Given the description of an element on the screen output the (x, y) to click on. 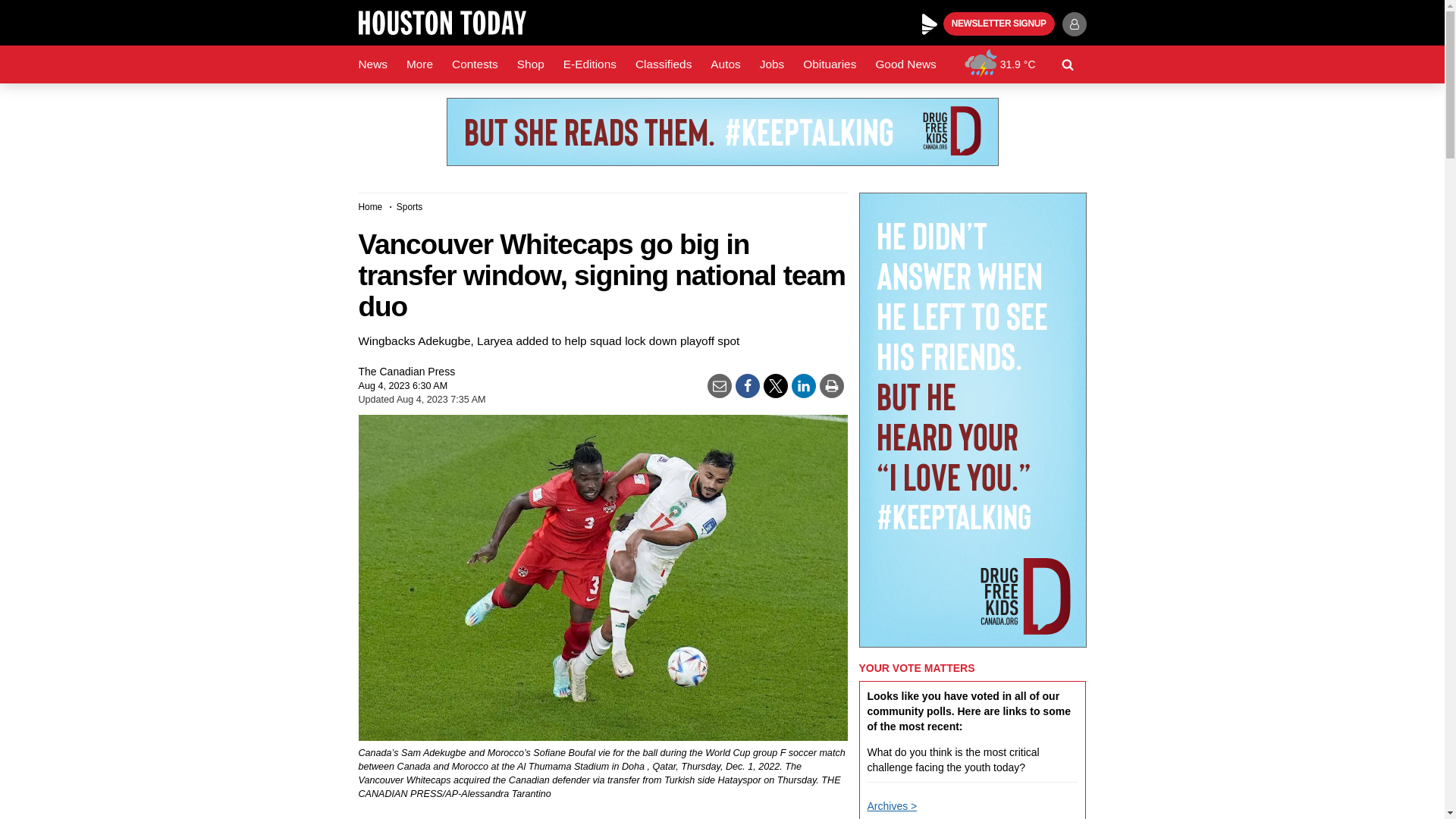
NEWSLETTER SIGNUP (998, 24)
Black Press Media (929, 24)
3rd party ad content (721, 131)
News (372, 64)
Play (929, 24)
